Given the description of an element on the screen output the (x, y) to click on. 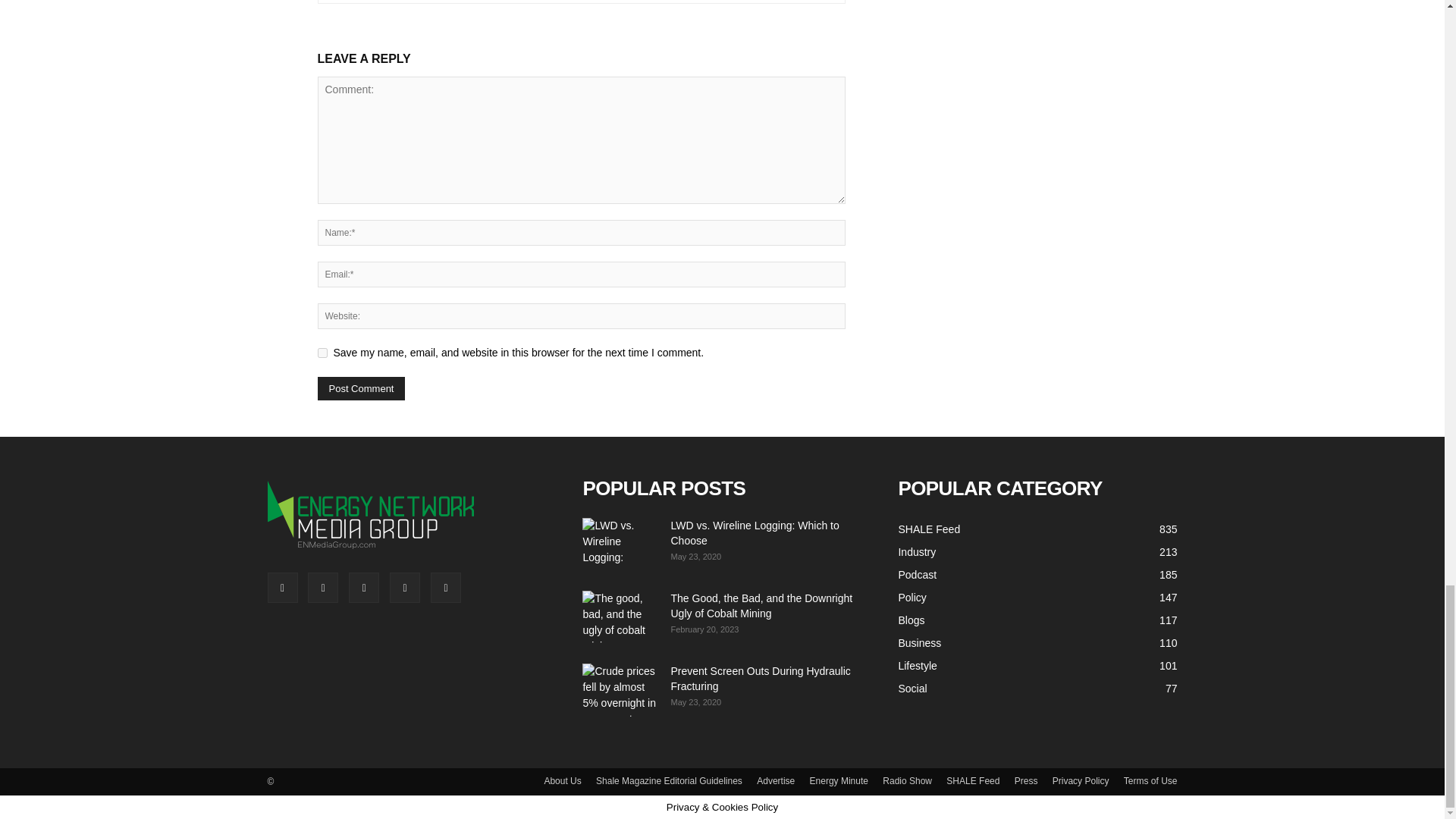
Post Comment (360, 388)
yes (321, 352)
